Given the description of an element on the screen output the (x, y) to click on. 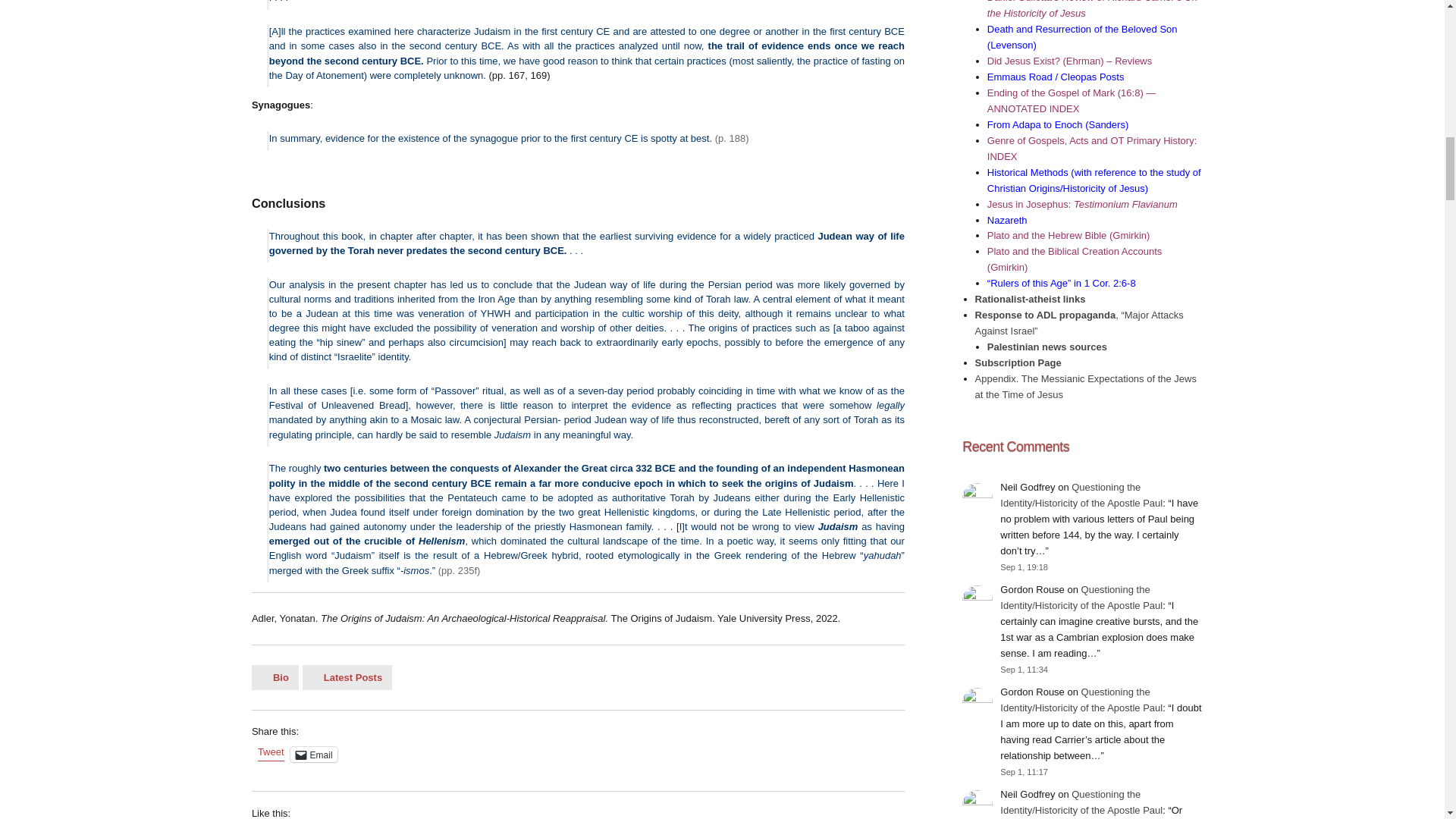
Bio (274, 677)
Tweet (270, 753)
Click to email a link to a friend (313, 754)
Email (313, 754)
Latest Posts (346, 677)
